Given the description of an element on the screen output the (x, y) to click on. 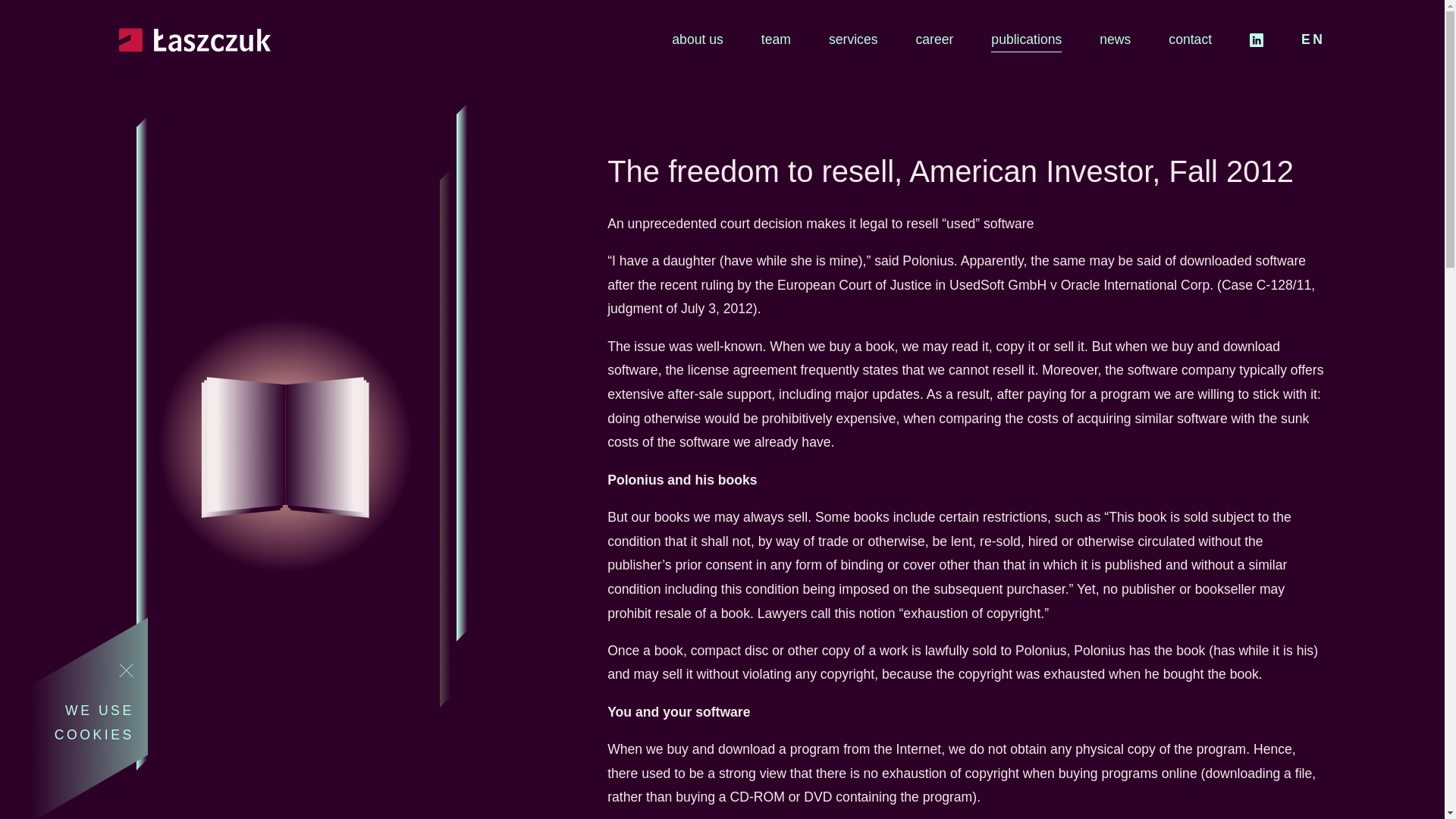
about us (697, 39)
team (775, 39)
career (934, 39)
news (1115, 39)
services (852, 39)
linkedin (1272, 45)
WE USE COOKIES (73, 722)
EN (1312, 39)
publications (1026, 39)
contact (1190, 39)
